Given the description of an element on the screen output the (x, y) to click on. 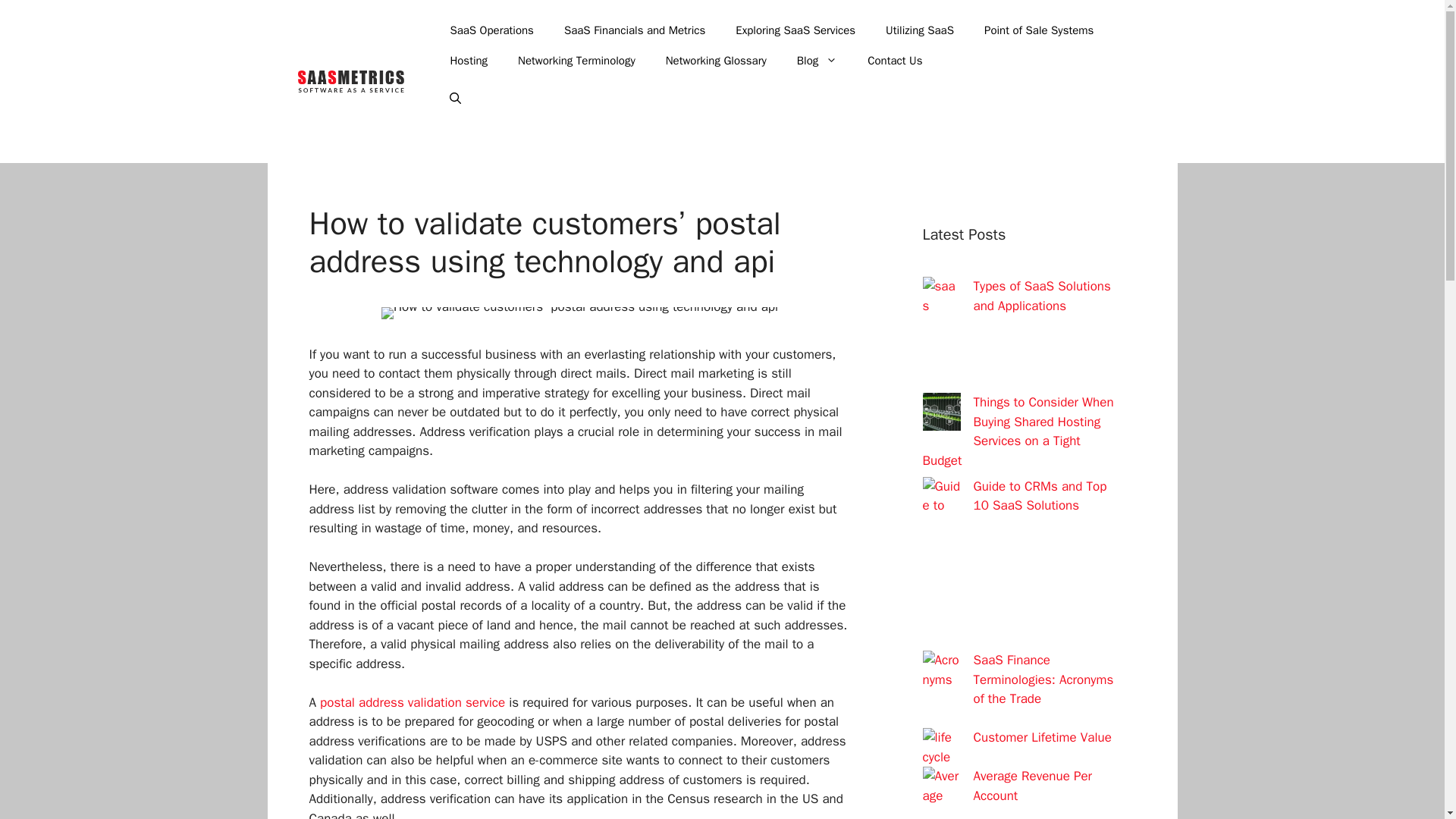
Guide to CRMs and Top 10 SaaS Solutions (1040, 495)
Networking Glossary (715, 60)
Networking Terminology (576, 60)
Customer Lifetime Value (1043, 737)
Hosting (467, 60)
Average Revenue Per Account (1033, 785)
Contact Us (894, 60)
SaaS Operations (490, 29)
Types of SaaS Solutions and Applications (1042, 295)
Utilizing SaaS (919, 29)
postal address validation service (412, 702)
SaaS Finance Terminologies: Acronyms of the Trade (1043, 678)
Blog (816, 60)
SaaS Financials and Metrics (634, 29)
